Given the description of an element on the screen output the (x, y) to click on. 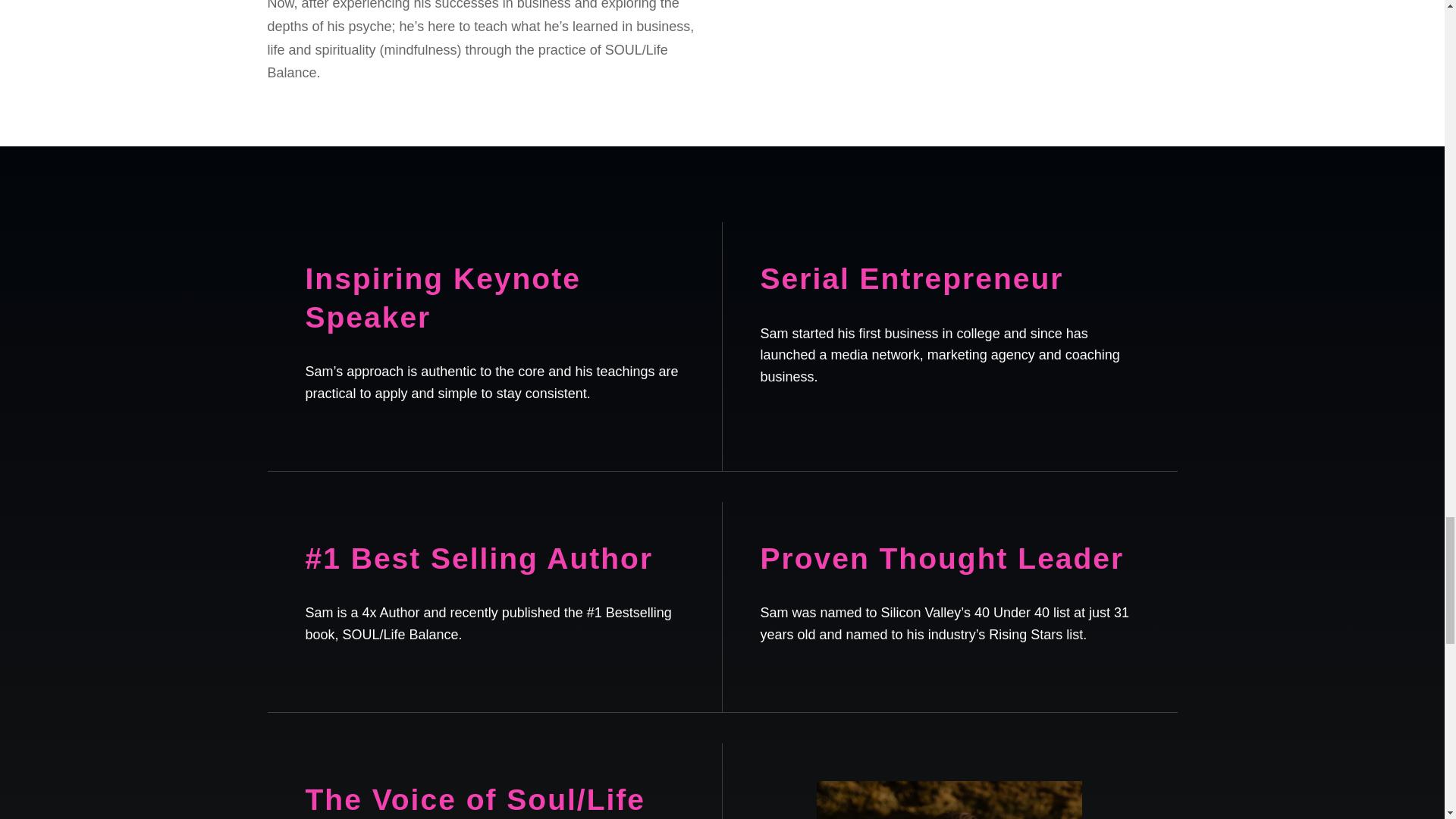
skphotodump-8 (948, 800)
